Given the description of an element on the screen output the (x, y) to click on. 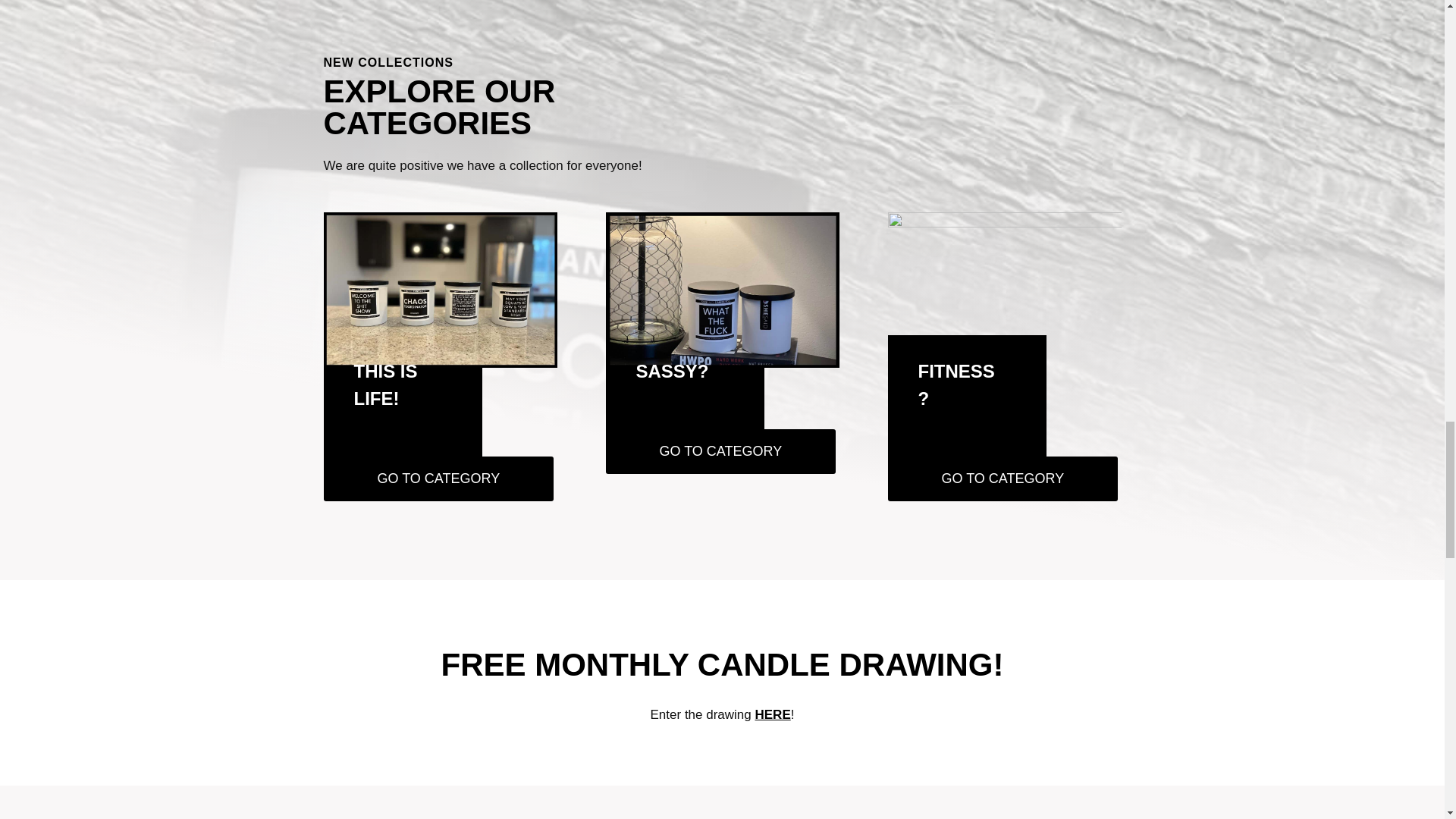
HERE (772, 714)
GO TO CATEGORY (1002, 478)
GO TO CATEGORY (720, 451)
GO TO CATEGORY (438, 478)
